Given the description of an element on the screen output the (x, y) to click on. 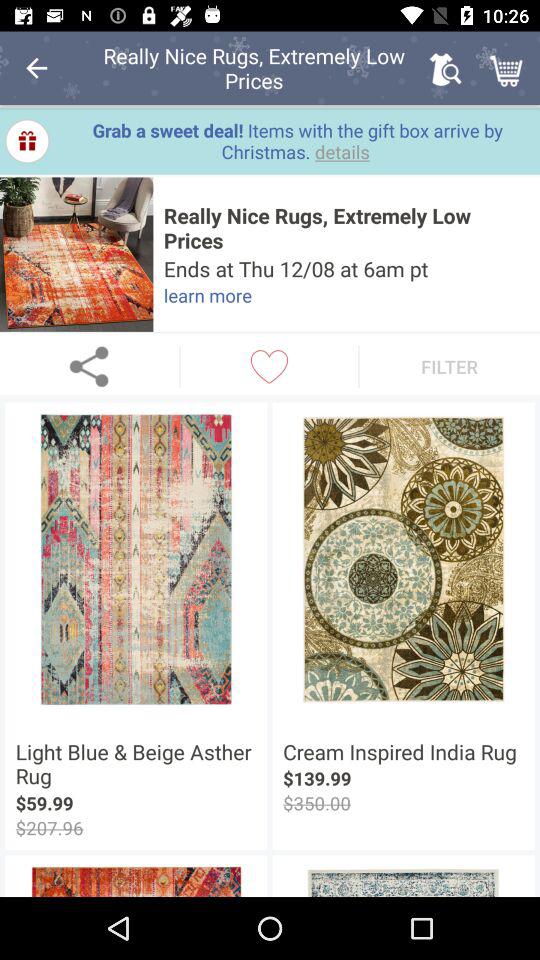
turn on the icon to the left of the really nice rugs item (76, 254)
